Given the description of an element on the screen output the (x, y) to click on. 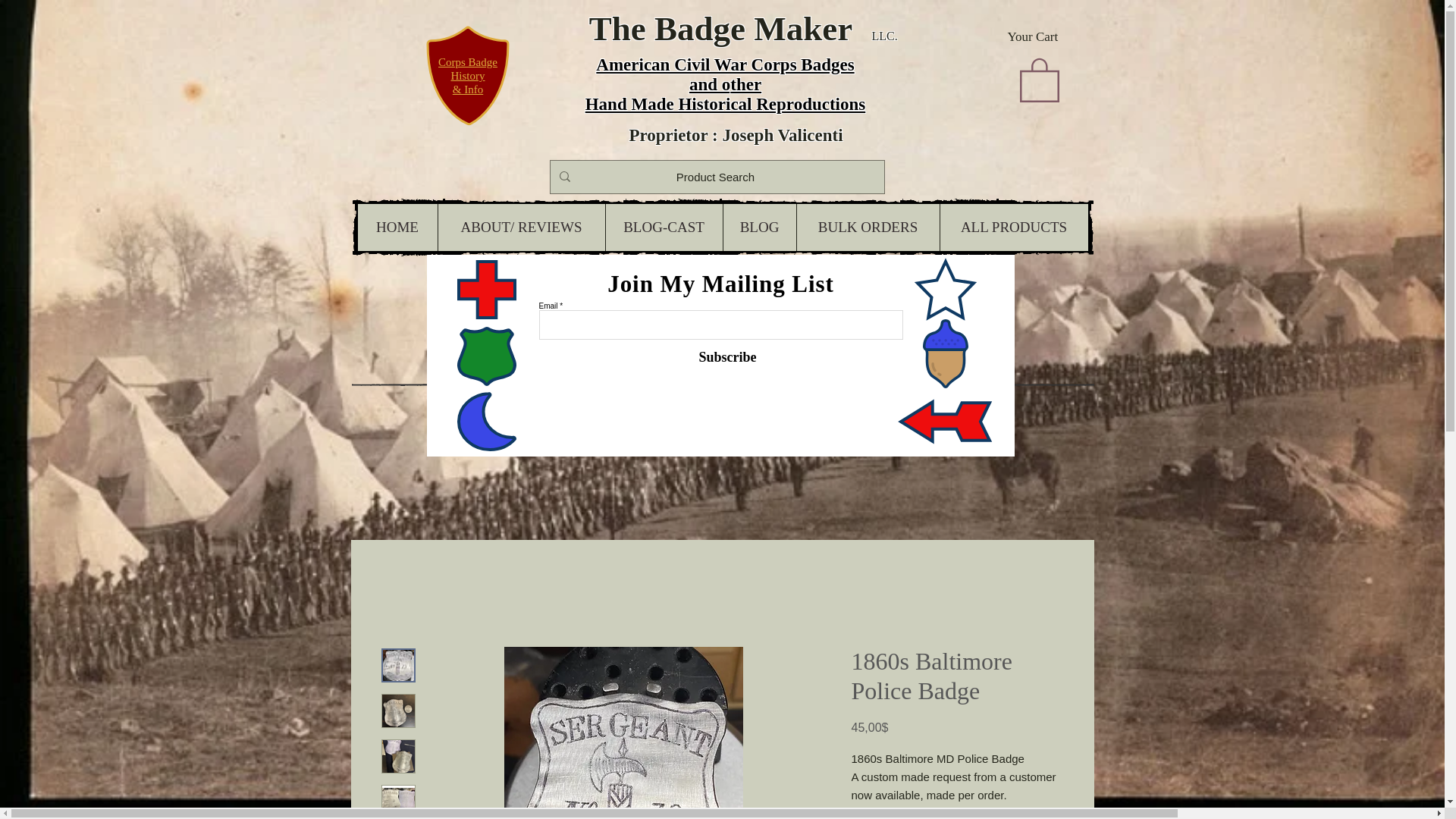
BLOG-CAST (663, 226)
The (617, 28)
BULK ORDERS (867, 226)
HOME (398, 226)
BLOG (758, 226)
